Given the description of an element on the screen output the (x, y) to click on. 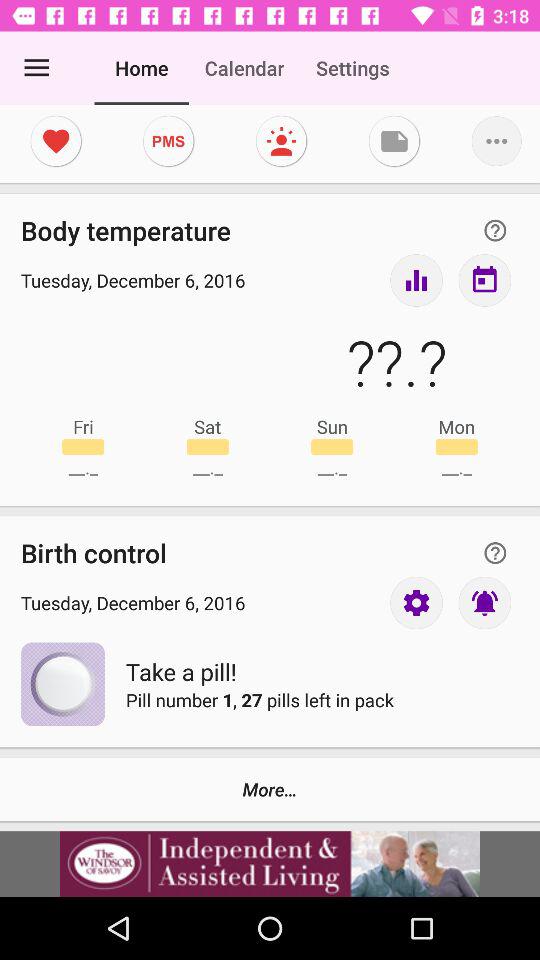
set notifications button (484, 602)
